Given the description of an element on the screen output the (x, y) to click on. 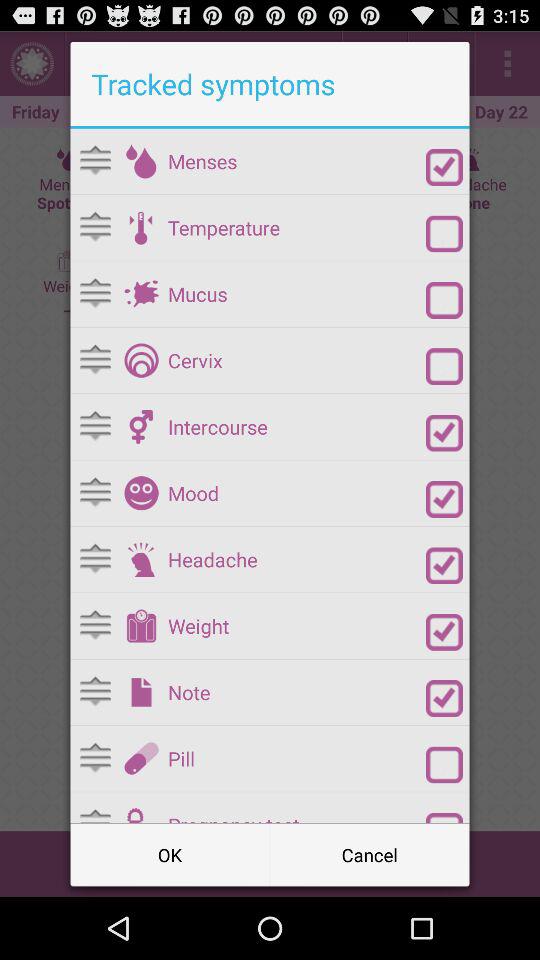
click the icon above cervix app (296, 293)
